Given the description of an element on the screen output the (x, y) to click on. 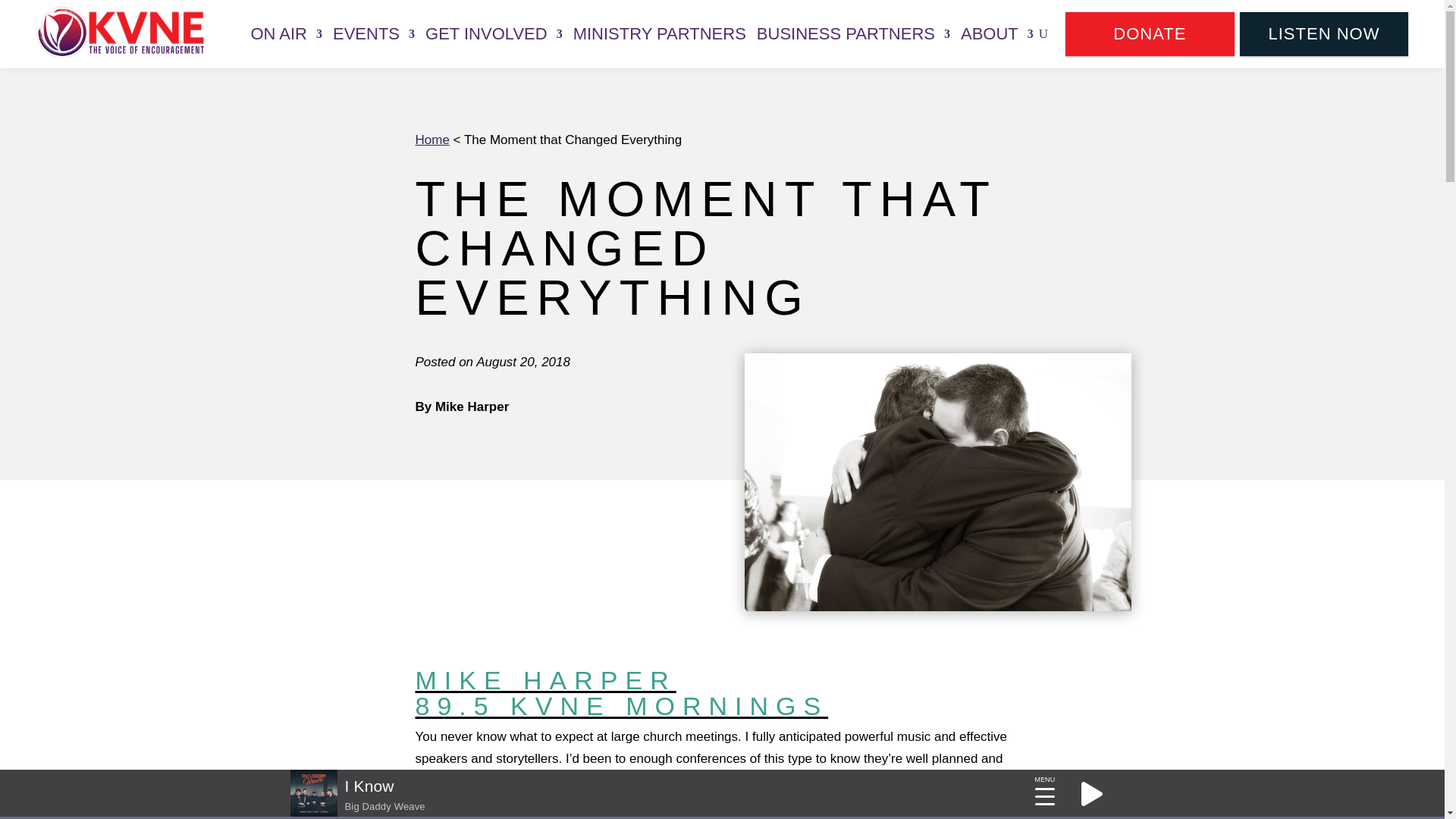
EVENTS (373, 33)
GET INVOLVED (493, 33)
MINISTRY PARTNERS (659, 33)
ON AIR (285, 33)
BUSINESS PARTNERS (853, 33)
ABOUT (996, 33)
